Given the description of an element on the screen output the (x, y) to click on. 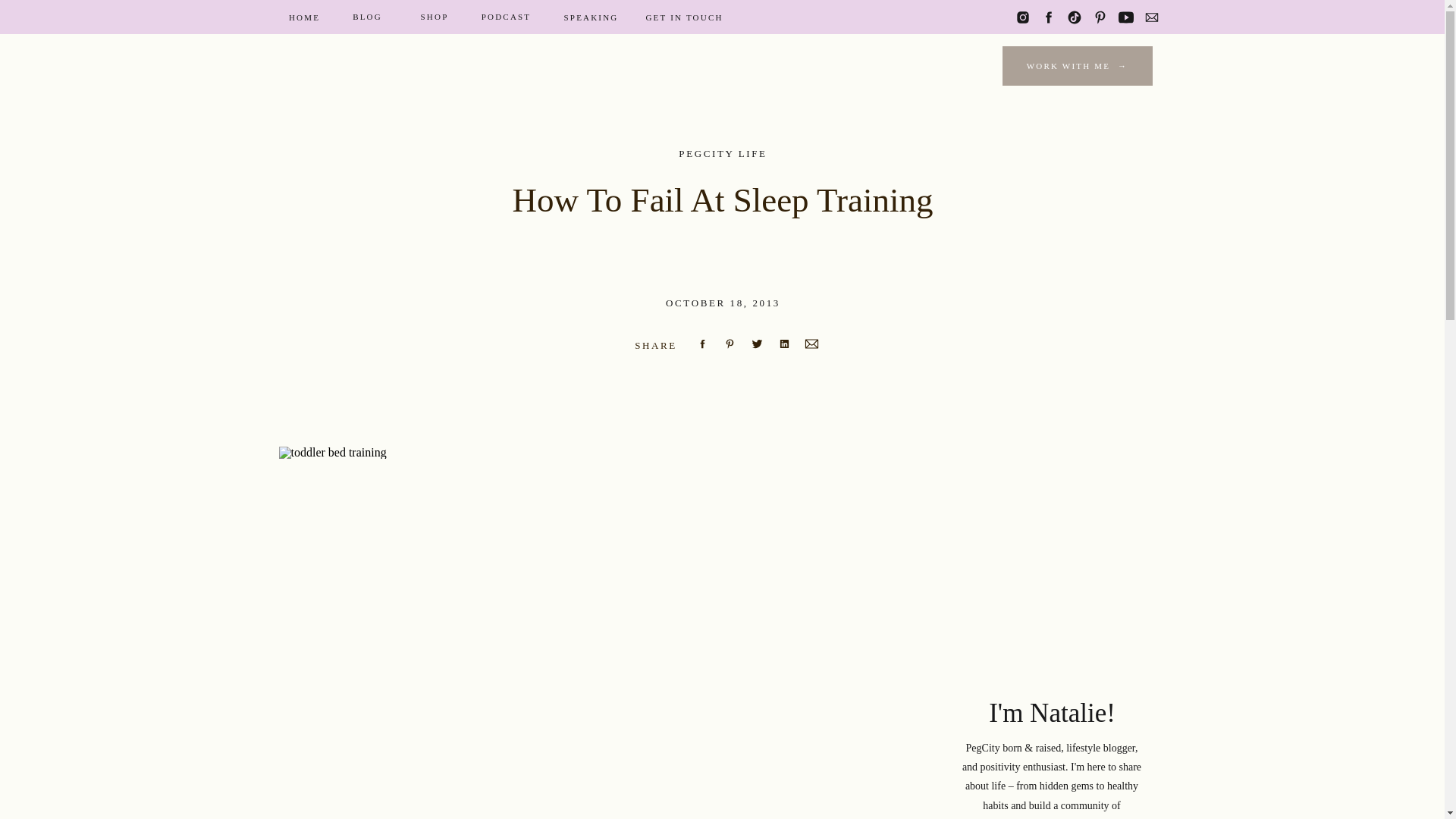
GET IN TOUCH (684, 17)
HOME (304, 17)
SPEAKING (586, 17)
PEGCITY LIFE (722, 153)
SHOP (434, 16)
PODCAST (505, 16)
BLOG (366, 16)
